Given the description of an element on the screen output the (x, y) to click on. 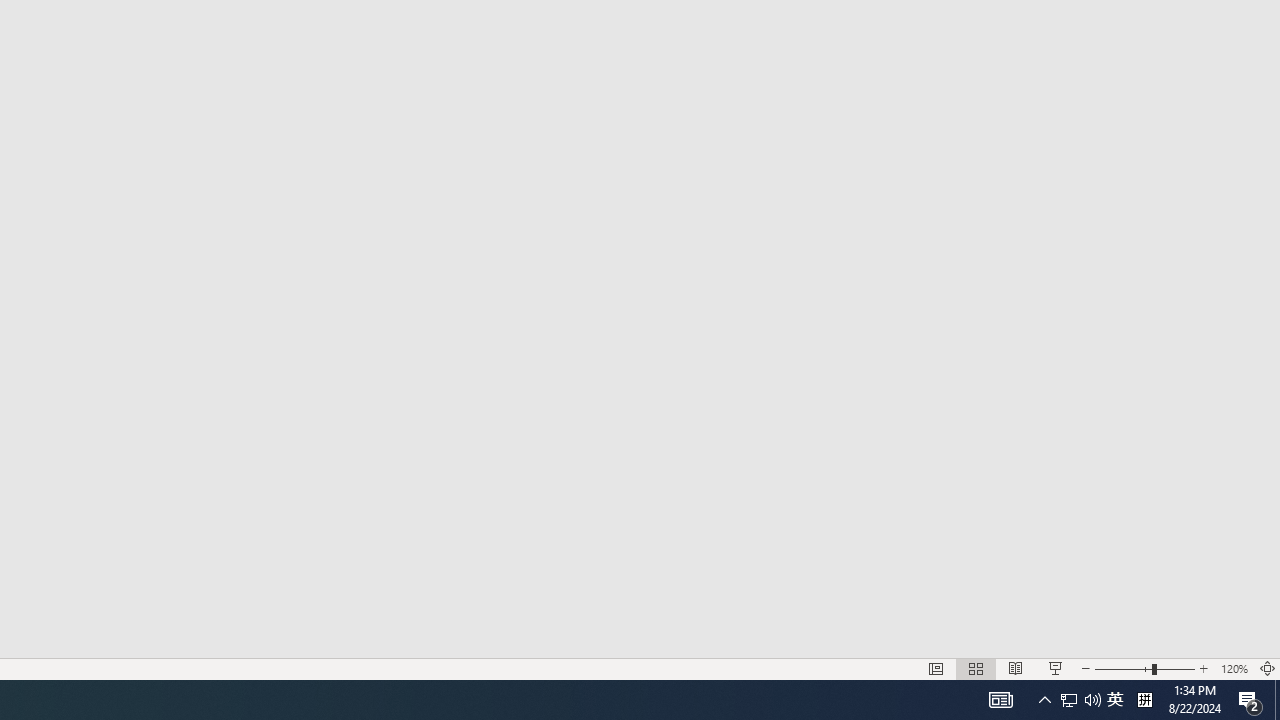
Zoom 120% (1234, 668)
